Given the description of an element on the screen output the (x, y) to click on. 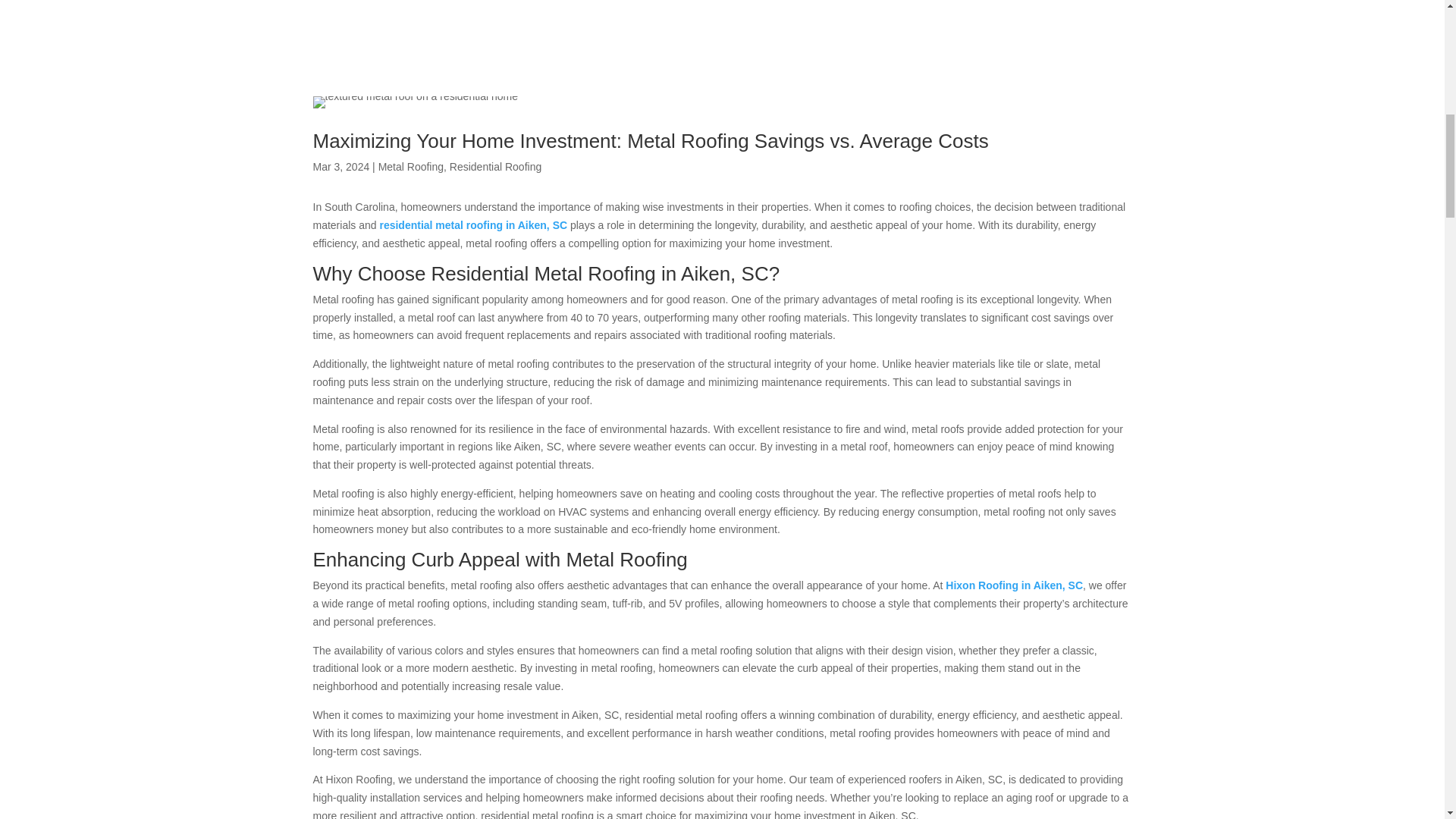
residential metal roofing in Aiken, SC (472, 224)
Residential Roofing (495, 166)
Hixon Roofing in Aiken, SC (1013, 585)
textured metal roof (414, 102)
Metal Roofing (411, 166)
